Given the description of an element on the screen output the (x, y) to click on. 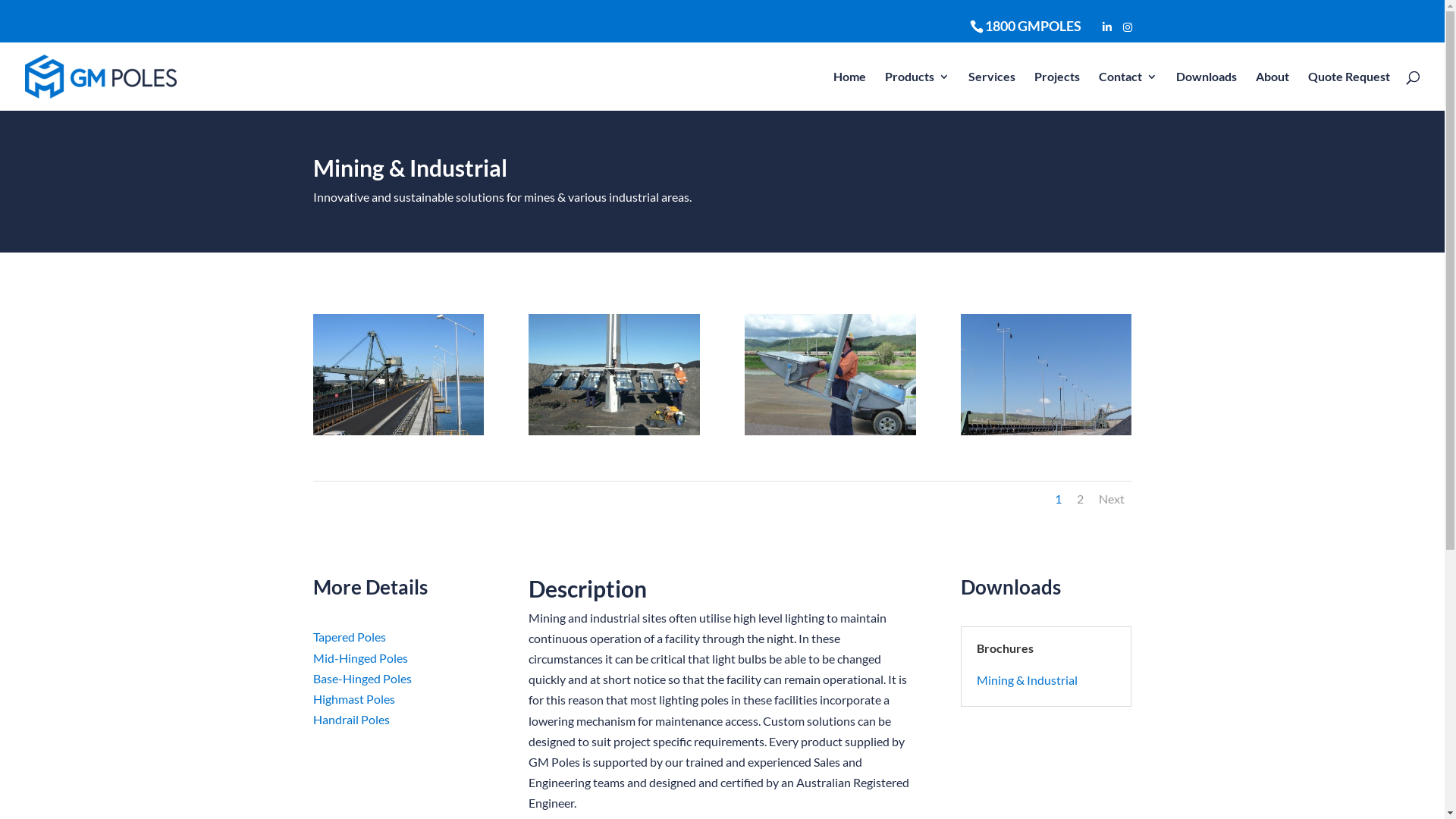
Home Element type: text (849, 90)
Services Element type: text (991, 90)
1 Element type: text (1057, 498)
Highmast Poles Element type: text (353, 698)
Mining & Industrial Element type: text (1026, 679)
LinkedIn Element type: hover (1106, 26)
Next Element type: text (1110, 498)
Mining & Industrial Element type: hover (397, 430)
Mid-Hinged Poles Element type: text (359, 657)
About Element type: text (1272, 90)
Base-Hinged Poles Element type: text (361, 678)
Quote Request Element type: text (1349, 90)
Downloads Element type: text (1206, 90)
Mid-hinged Poles, Jilalan Rail Yard Element type: hover (1045, 430)
Projects Element type: text (1056, 90)
Products Element type: text (916, 90)
Servicing Lights, Abbott Point - Pring Yard Element type: hover (829, 430)
2 Element type: text (1079, 498)
Instagram Element type: hover (1126, 26)
Servicing Lights, Curragh Mine Element type: hover (613, 430)
Contact Element type: text (1127, 90)
Handrail Poles Element type: text (350, 719)
Tapered Poles Element type: text (348, 636)
